Given the description of an element on the screen output the (x, y) to click on. 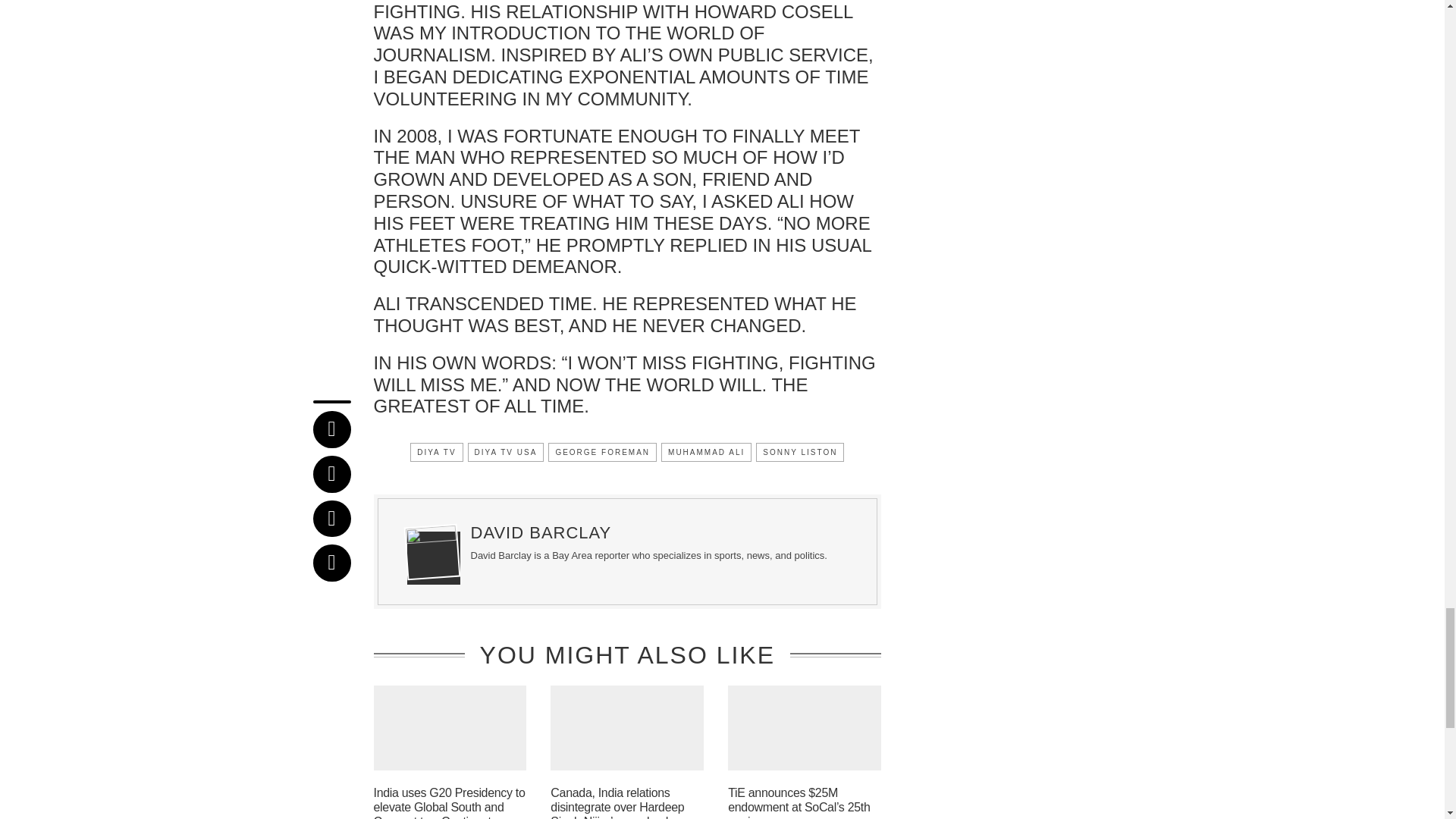
SONNY LISTON (799, 452)
MUHAMMAD ALI (706, 452)
DIYA TV USA (505, 452)
DIYA TV (436, 452)
GEORGE FOREMAN (602, 452)
DAVID BARCLAY (540, 532)
